Given the description of an element on the screen output the (x, y) to click on. 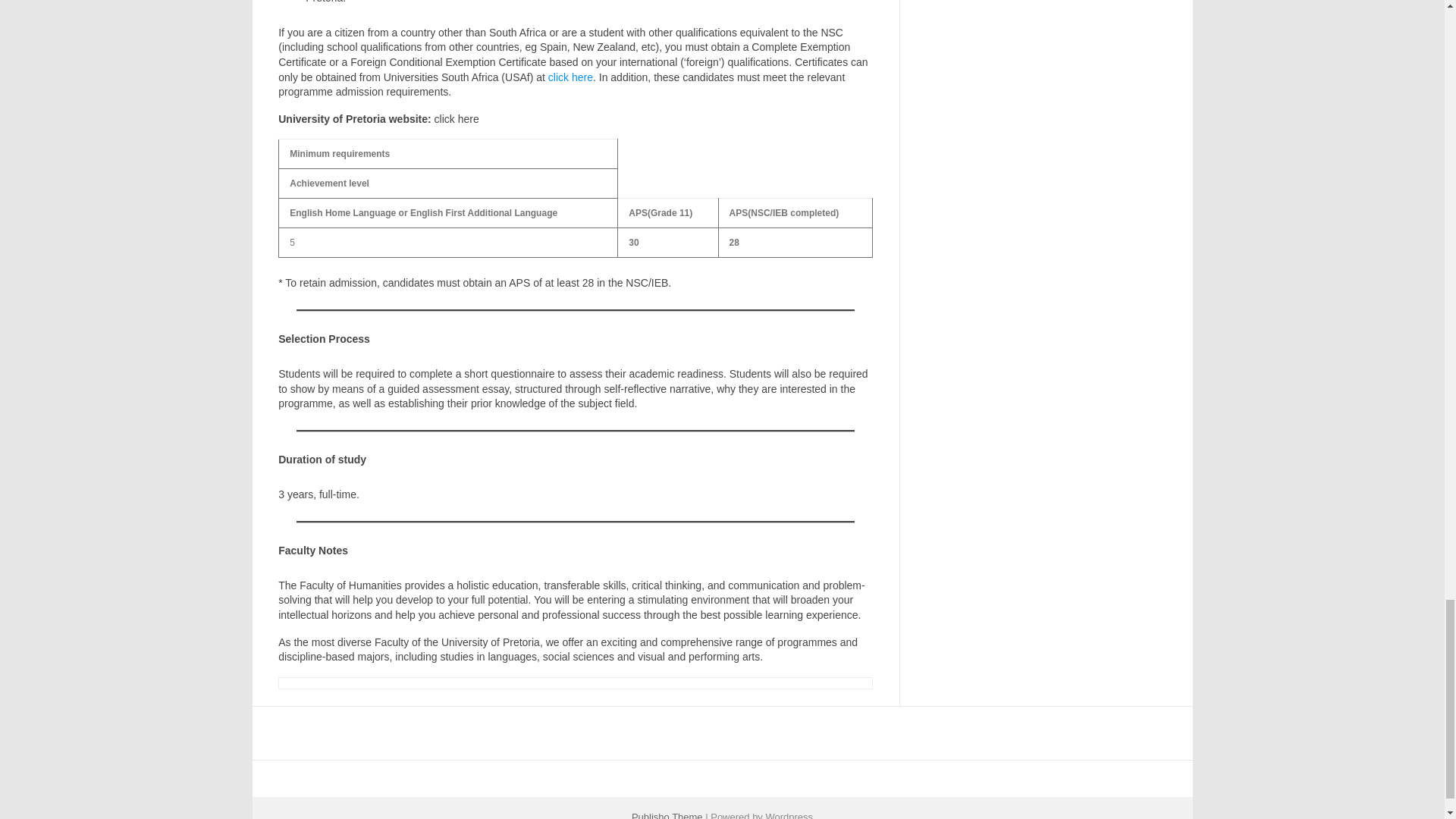
click here (570, 77)
